Given the description of an element on the screen output the (x, y) to click on. 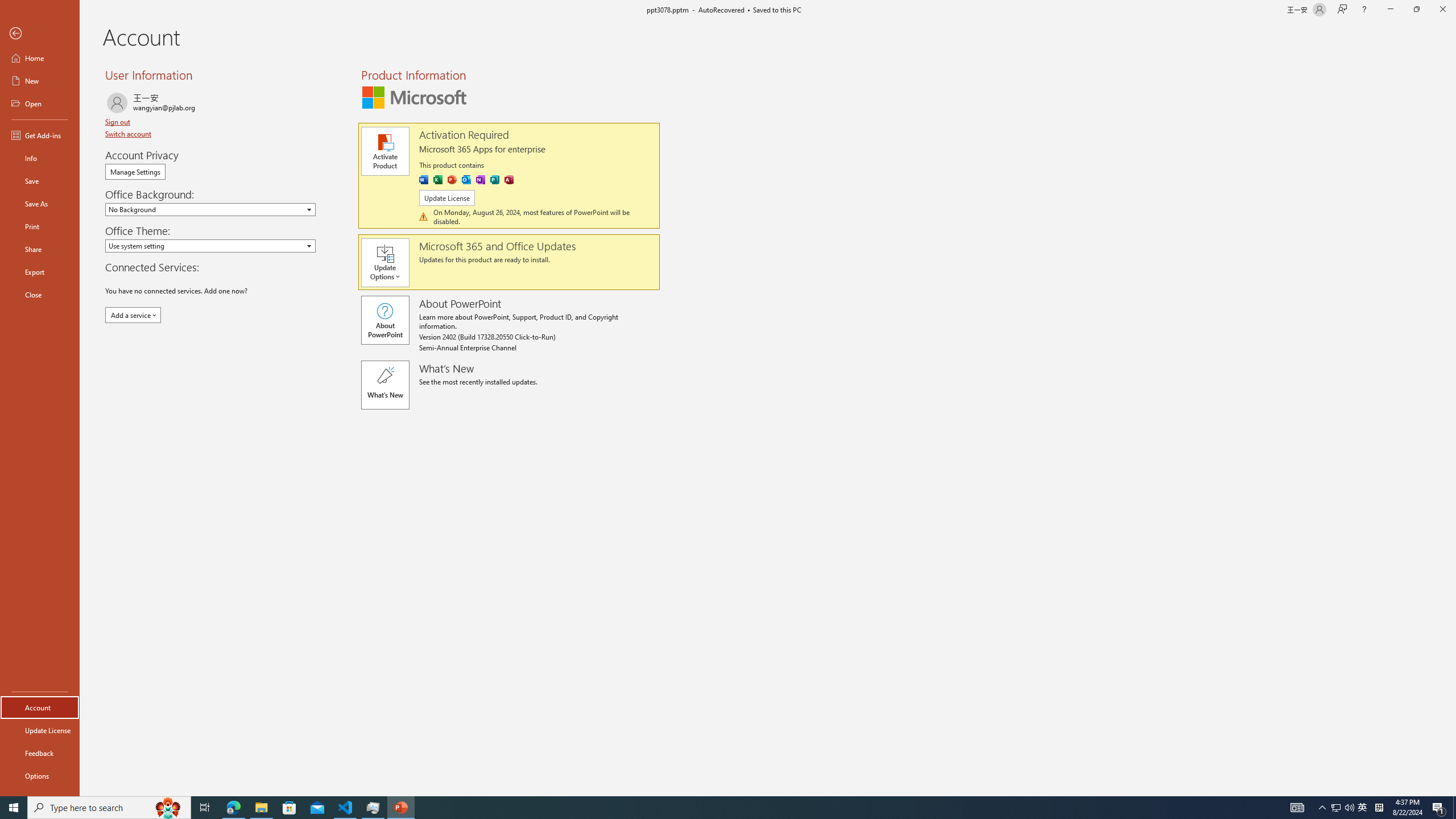
Activate Product (385, 151)
Excel (437, 179)
Word (423, 179)
New (40, 80)
PowerPoint (451, 179)
Save As (40, 203)
Outlook (465, 179)
Update Options (390, 262)
Update License (446, 197)
Switch account (128, 133)
Office Theme (209, 245)
